Given the description of an element on the screen output the (x, y) to click on. 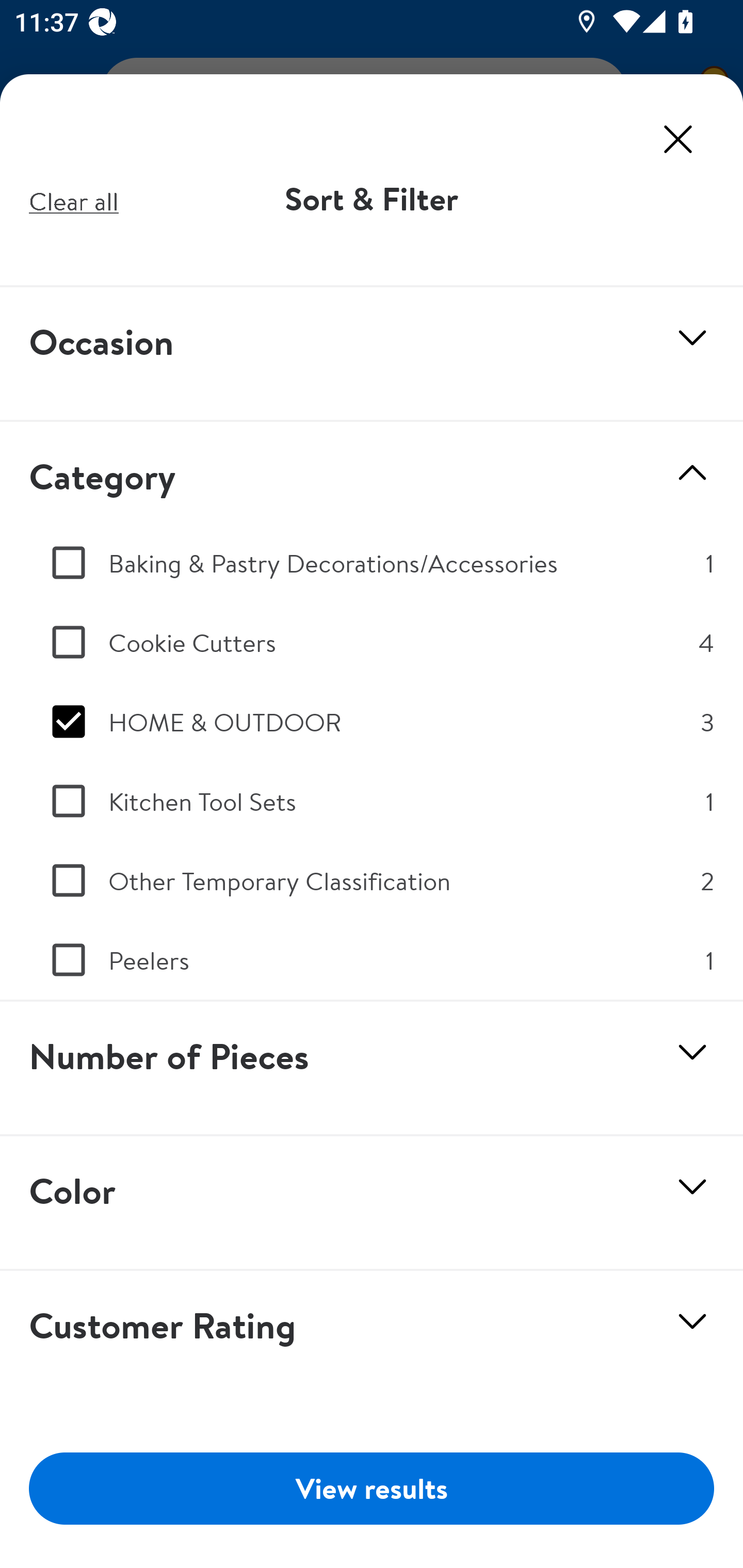
Close (677, 139)
Clear all clear all filters (73, 200)
Occasion Occasion Collapsed Collapsed (371, 353)
Category Category Expanded Expanded (371, 472)
Color Color Collapsed Collapsed (371, 1203)
View results (371, 1487)
